Given the description of an element on the screen output the (x, y) to click on. 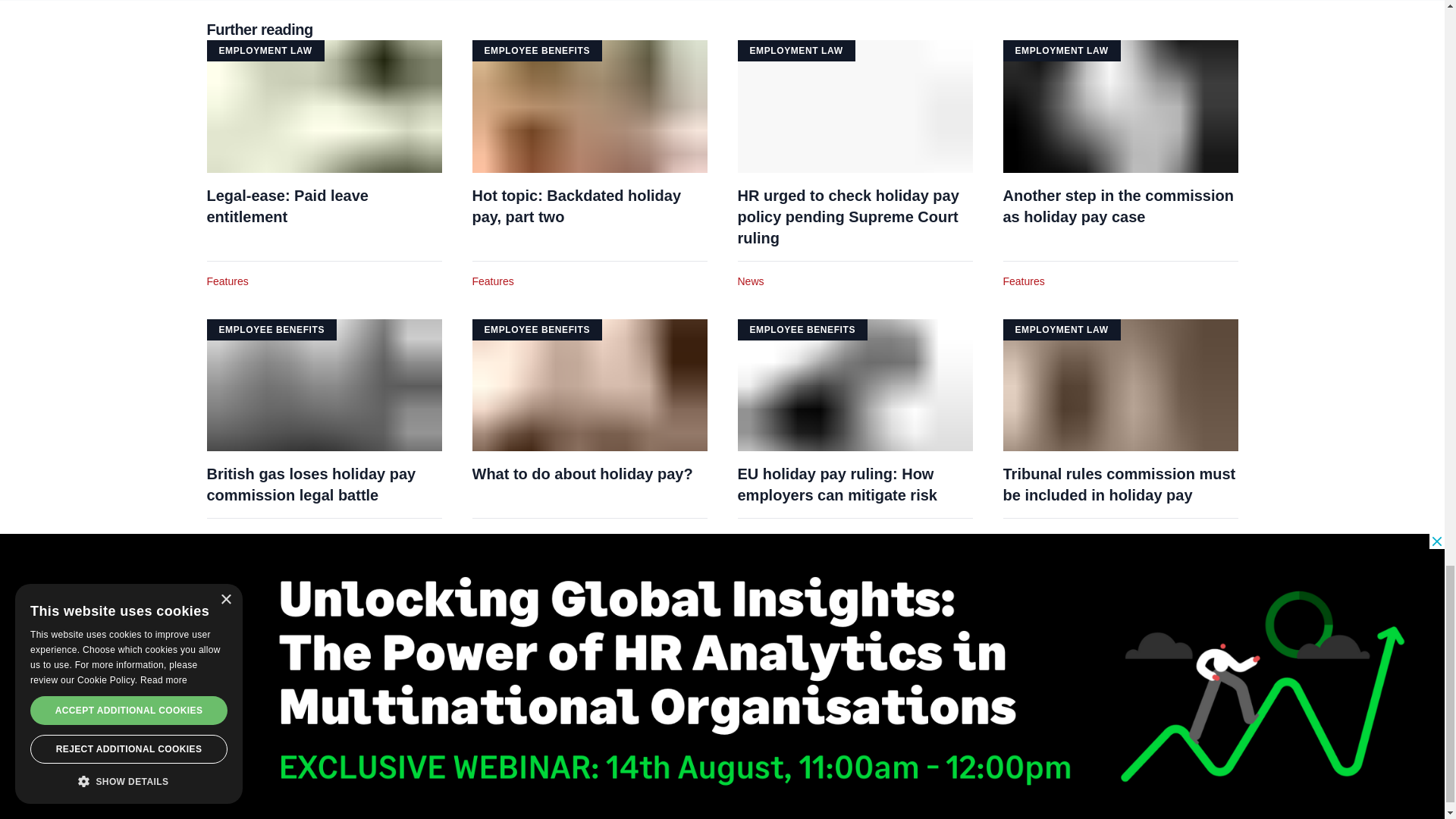
Legal-ease: Paid leave entitlement (323, 206)
Hot topic: Backdated holiday pay, part two (588, 206)
Another step in the commission as holiday pay case (1120, 206)
Features (226, 281)
News (749, 281)
Features (492, 281)
